Given the description of an element on the screen output the (x, y) to click on. 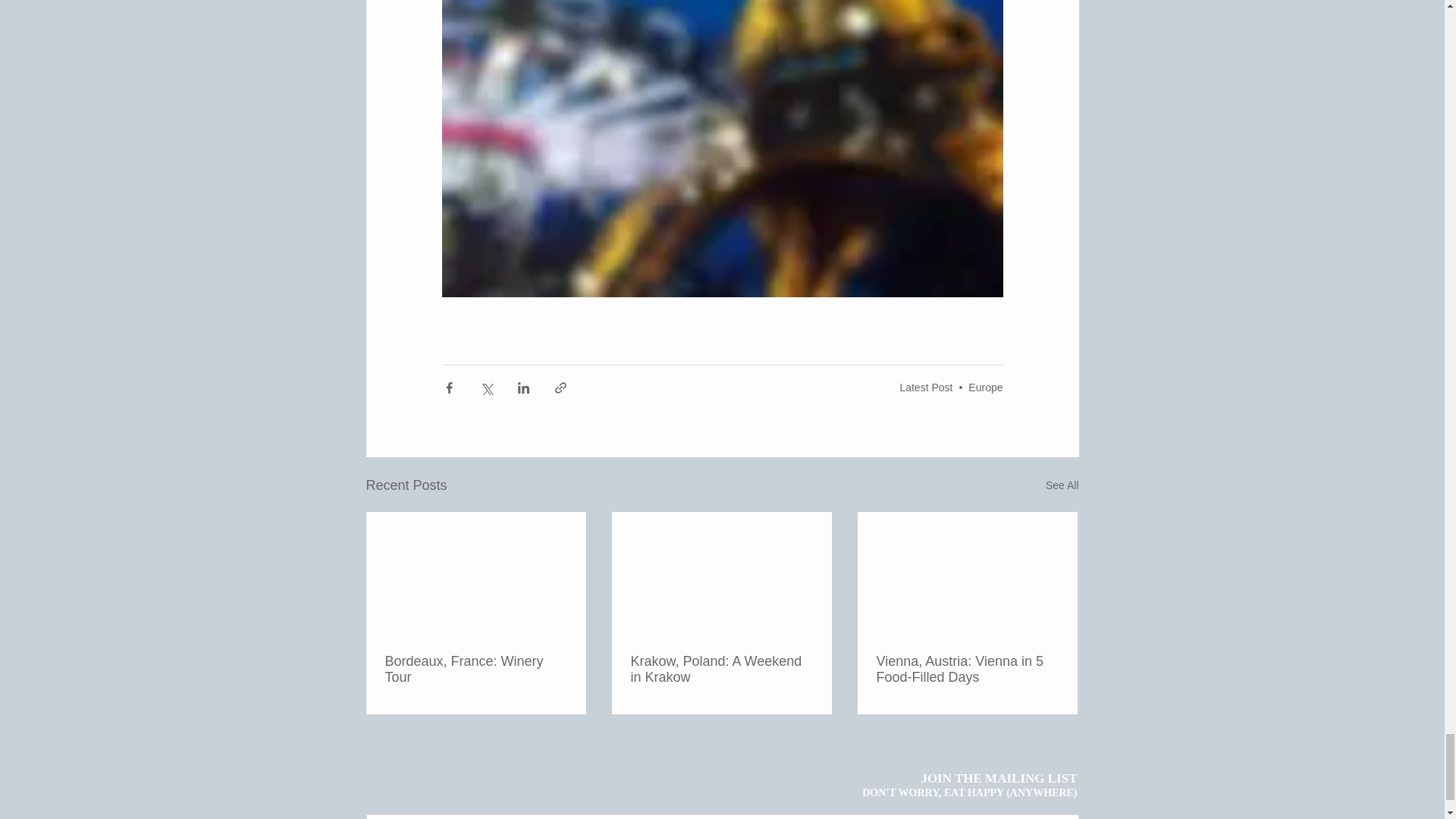
Krakow, Poland: A Weekend in Krakow (721, 669)
See All (1061, 485)
Europe (985, 387)
Bordeaux, France: Winery Tour (476, 669)
Vienna, Austria: Vienna in 5 Food-Filled Days (967, 669)
Latest Post (925, 387)
